Given the description of an element on the screen output the (x, y) to click on. 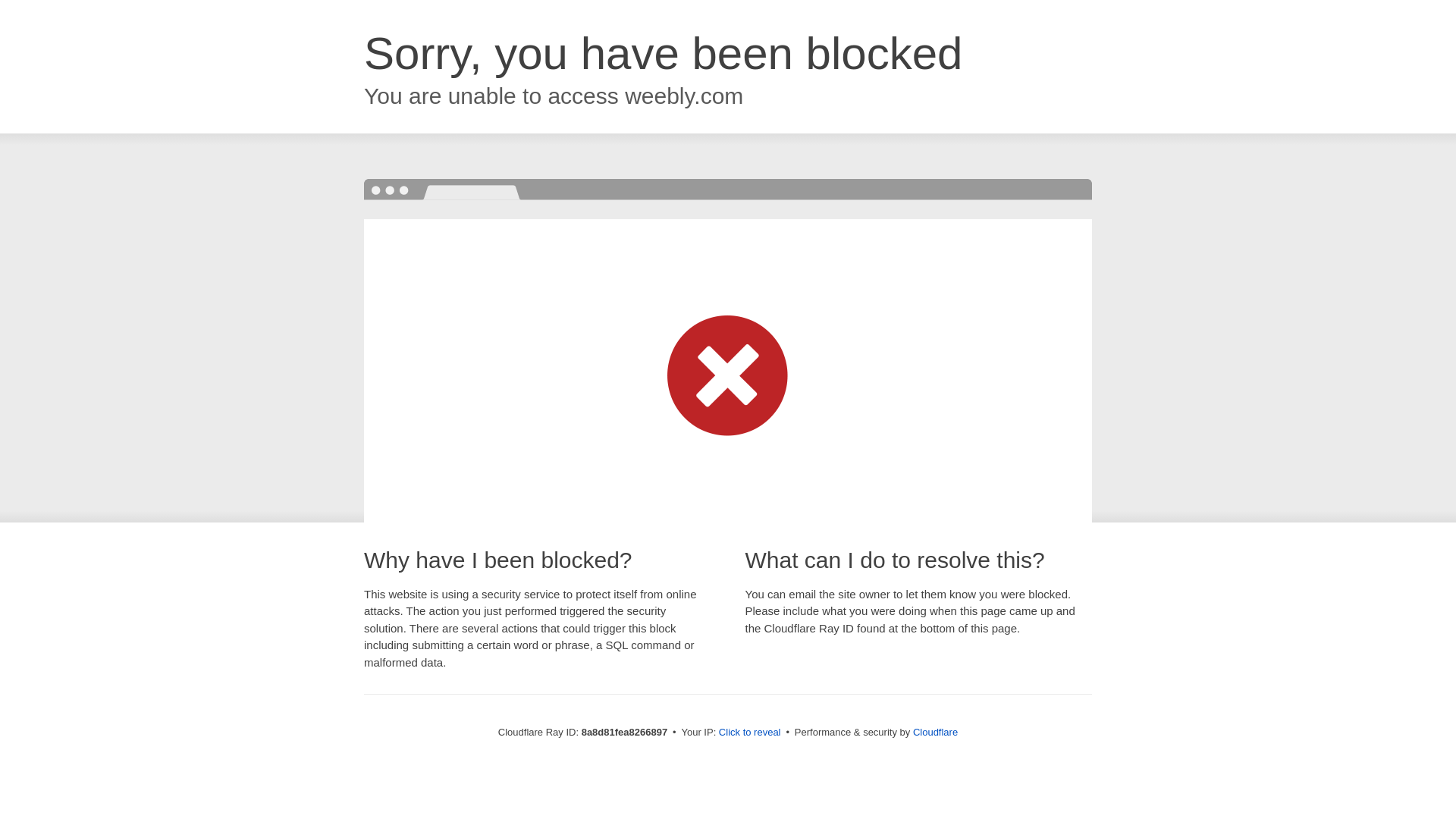
Click to reveal (749, 732)
Cloudflare (935, 731)
